Given the description of an element on the screen output the (x, y) to click on. 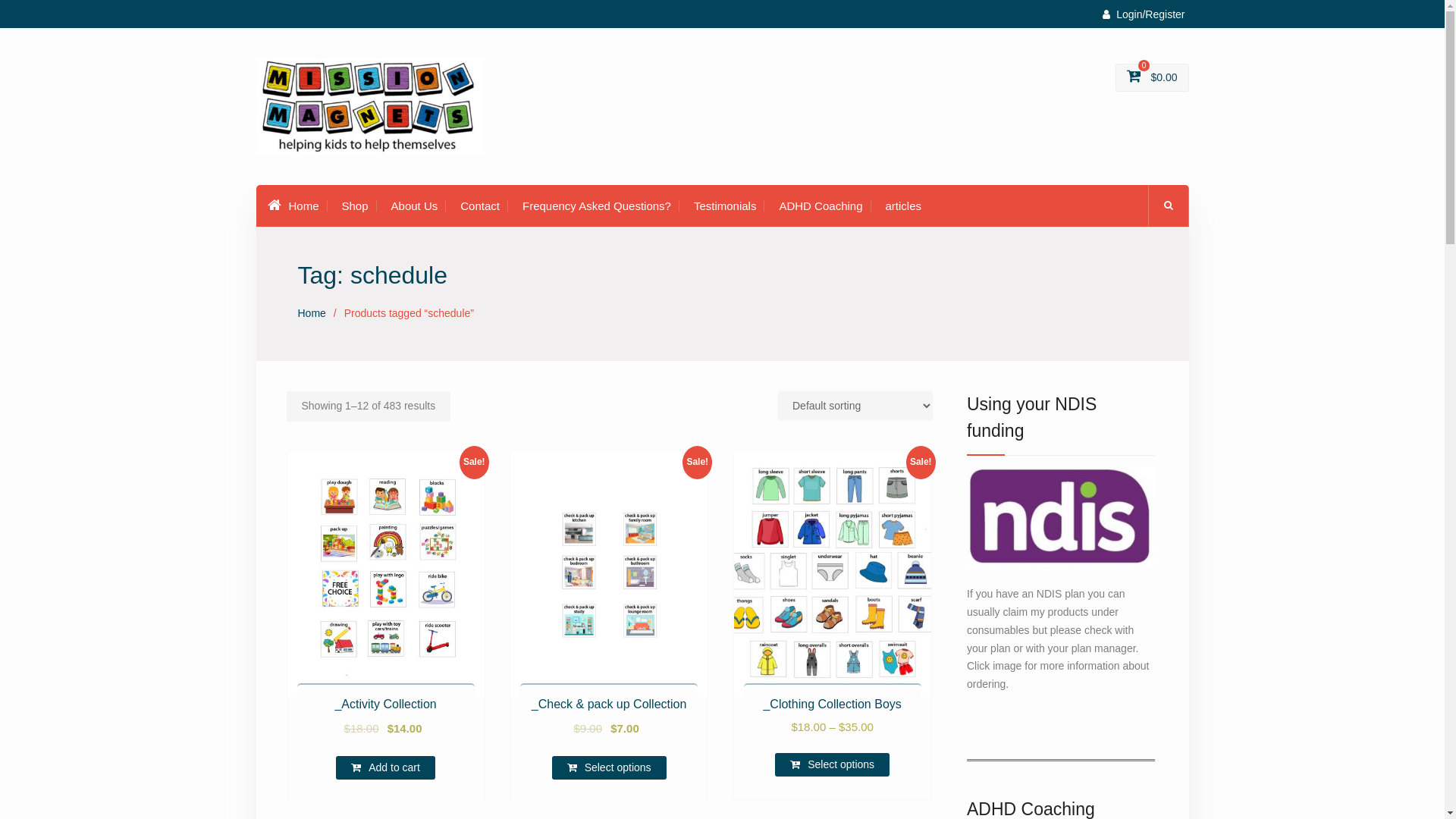
Login/Register Element type: text (1143, 14)
Home Element type: text (311, 313)
About Us Element type: text (414, 206)
Sale!
_Activity Collection
$18.00 $14.00 Element type: text (384, 611)
Contact Element type: text (479, 206)
Select options Element type: text (609, 767)
Select options Element type: text (832, 764)
Add to cart Element type: text (385, 767)
Shop Element type: text (355, 206)
Testimonials Element type: text (724, 206)
articles Element type: text (903, 206)
Sale!
_Check & pack up Collection
$9.00 $7.00 Element type: text (608, 611)
0
 $0.00 Element type: text (1152, 77)
ADHD Coaching Element type: text (820, 206)
Frequency Asked Questions? Element type: text (596, 206)
Home Element type: text (292, 206)
